Given the description of an element on the screen output the (x, y) to click on. 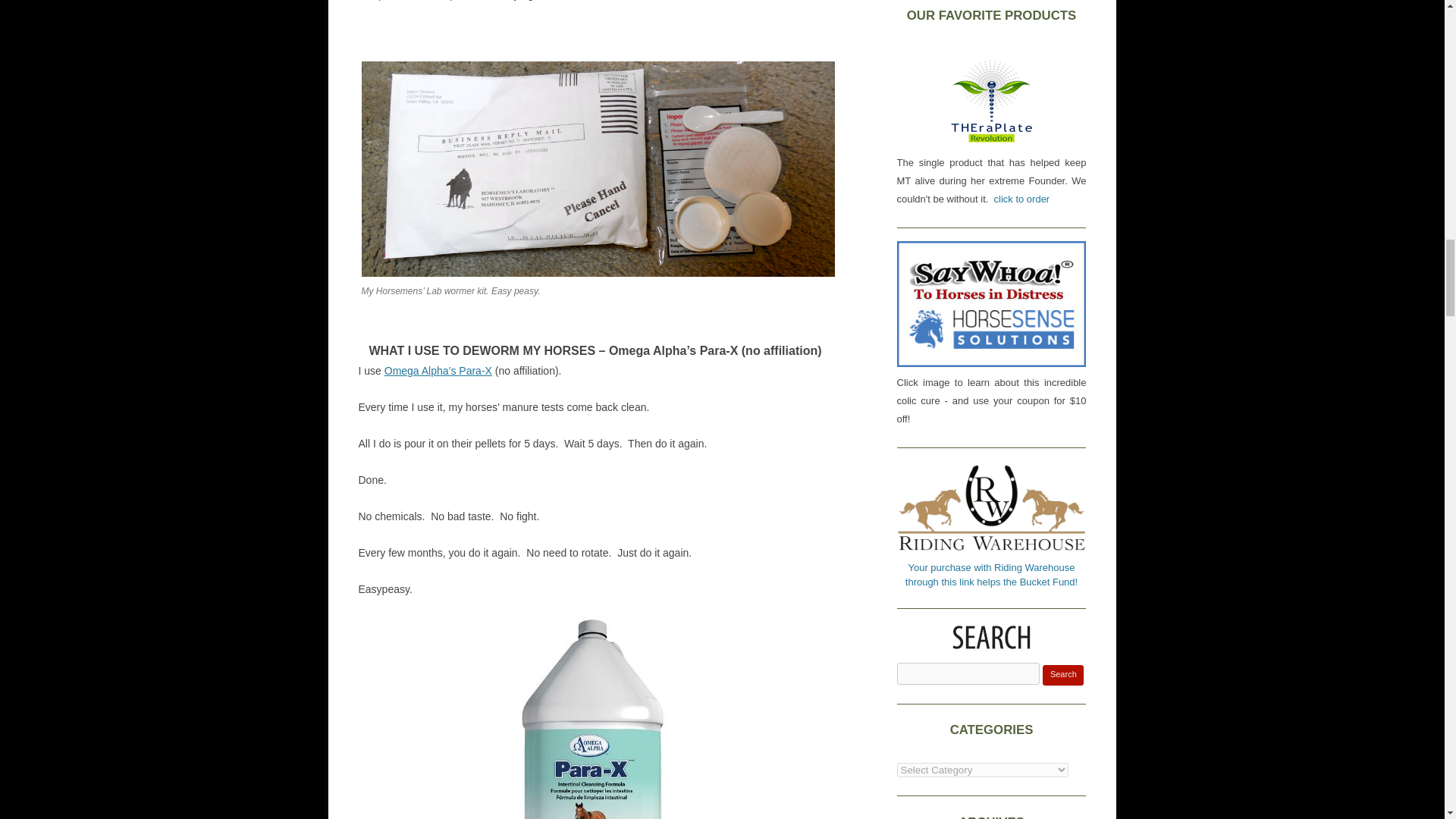
Search (1062, 675)
